Given the description of an element on the screen output the (x, y) to click on. 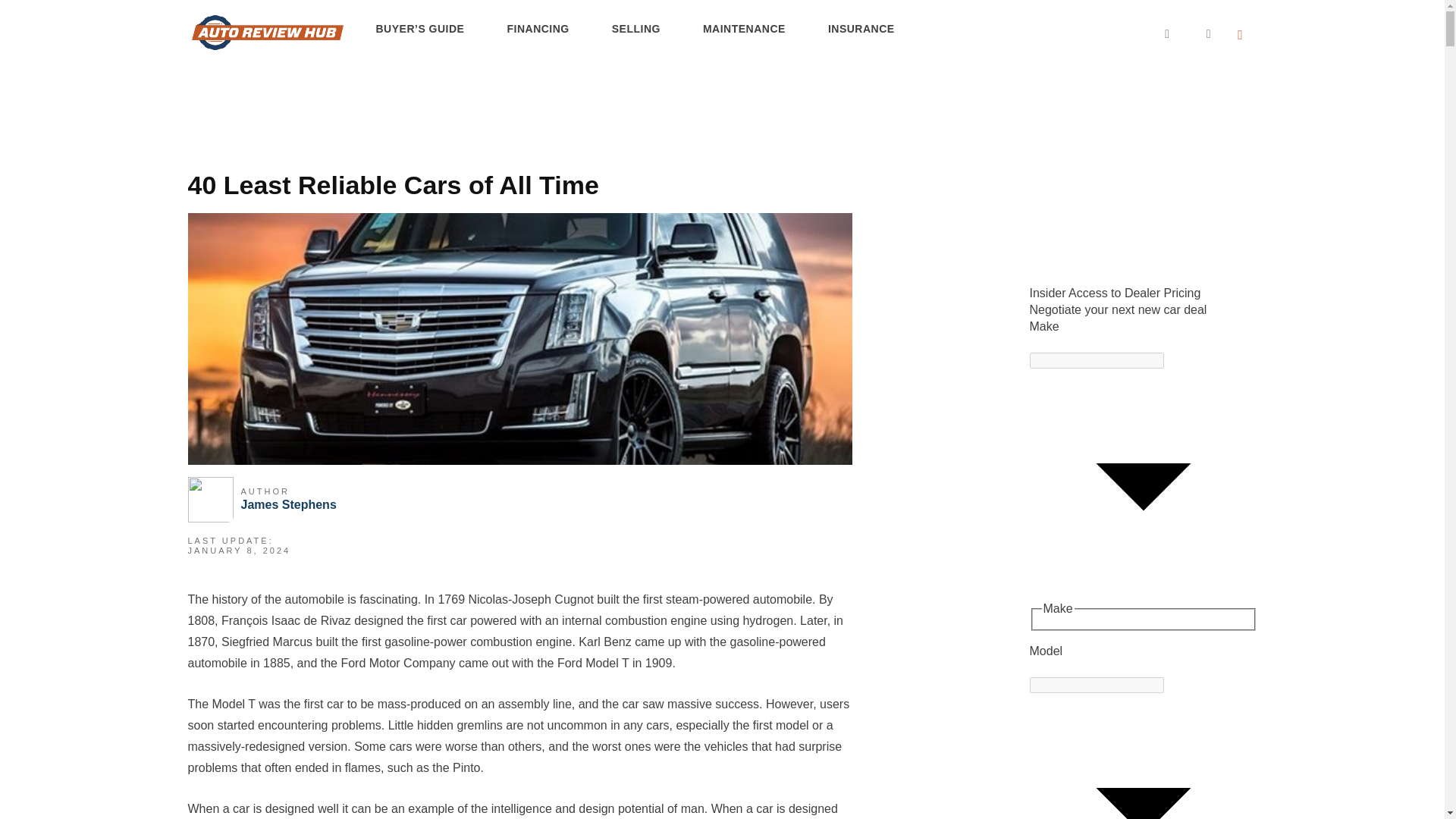
FINANCING (536, 29)
Facebook (1150, 33)
James Stephens (288, 504)
Twitter (1190, 33)
SELLING (636, 29)
MAINTENANCE (743, 29)
INSURANCE (860, 29)
